Given the description of an element on the screen output the (x, y) to click on. 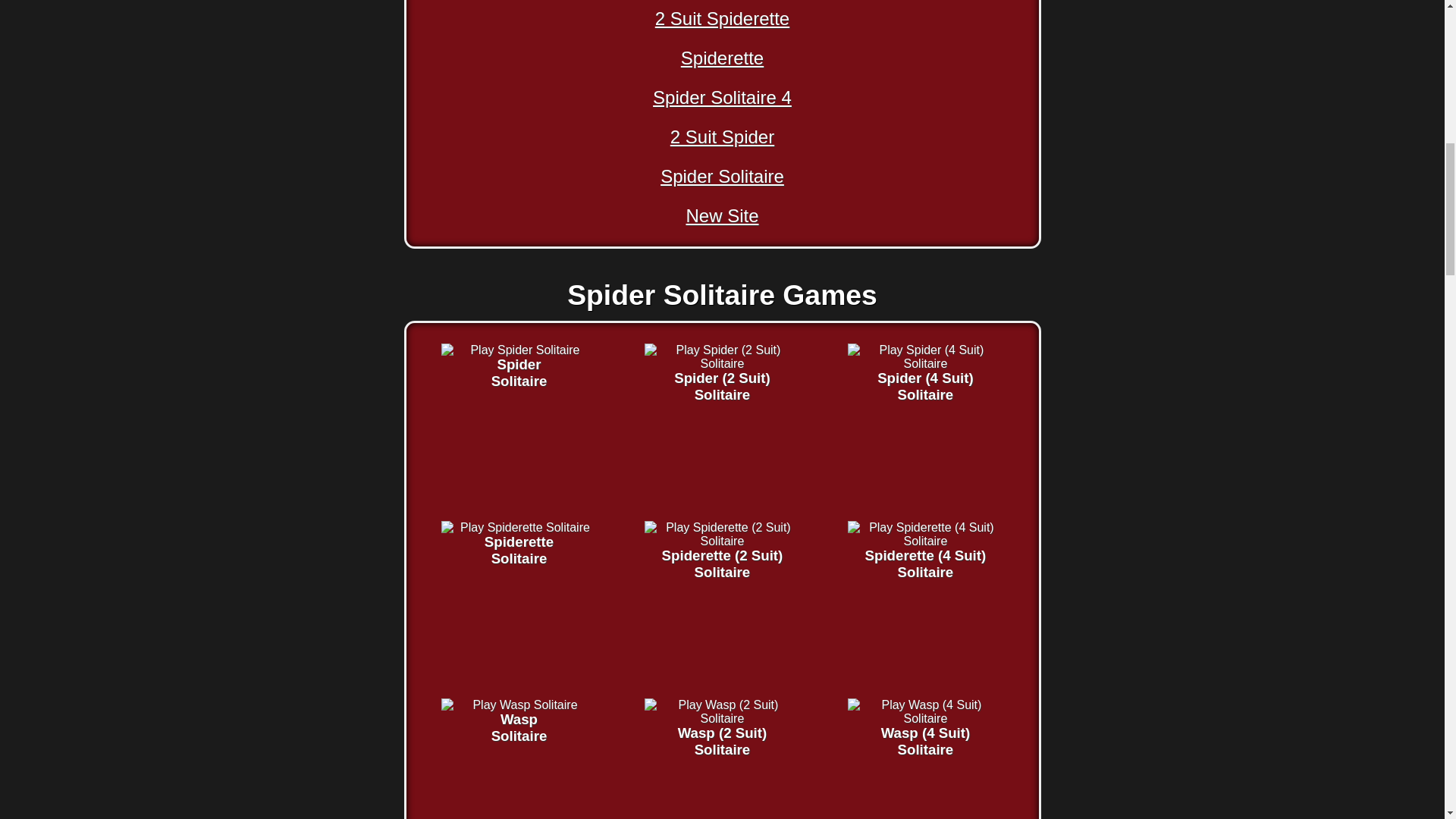
2 Suit Spiderette (722, 20)
Spider Solitaire (722, 178)
2 Suit Spider (518, 349)
Spider Solitaire 4 (721, 138)
Spiderette (722, 99)
New Site (721, 60)
